Given the description of an element on the screen output the (x, y) to click on. 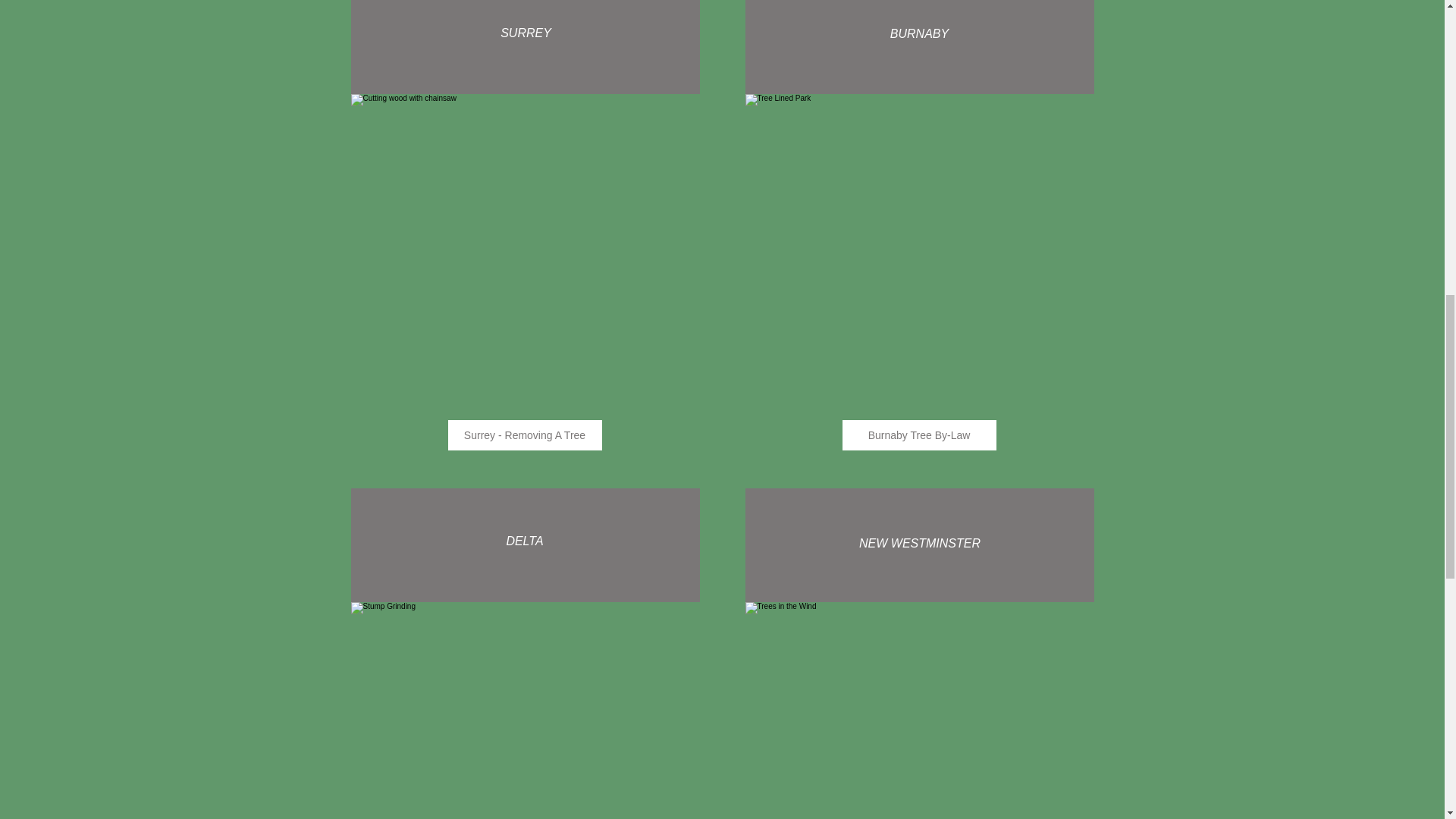
BURNABY (919, 38)
NEW WESTMINSTER (920, 543)
Surrey - Removing A Tree (523, 435)
SURREY (526, 38)
DELTA (525, 541)
Burnaby Tree By-Law (918, 435)
